Given the description of an element on the screen output the (x, y) to click on. 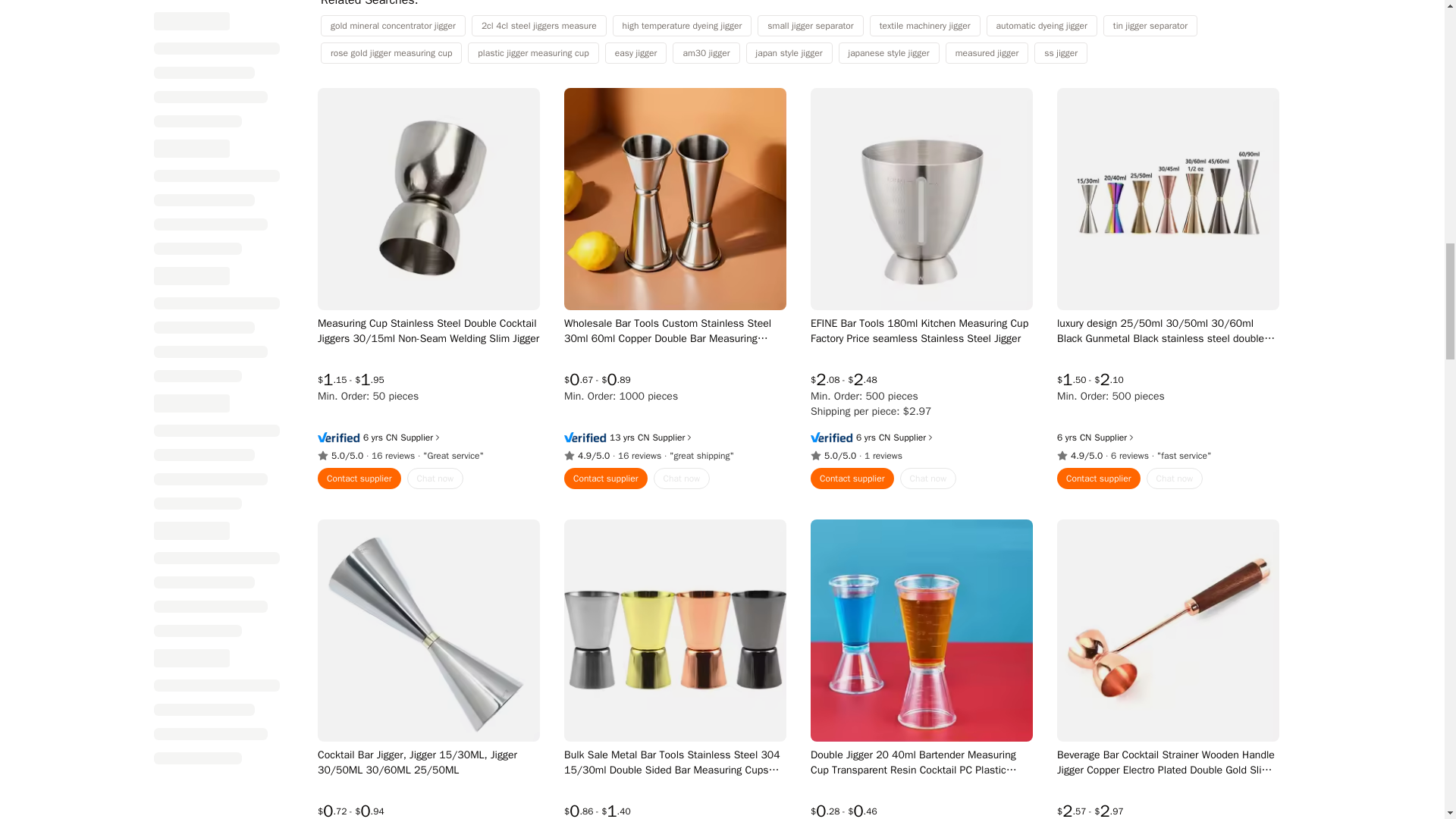
Ningbo BKF Housewares Co., Ltd. (390, 437)
Efine International Co., Limited (883, 437)
Hangzhou Gold King Materials Co., Ltd. (1084, 437)
FOSHAN NANHAI LONGRICH INDUSTRY CO.,LTD. (643, 437)
